Given the description of an element on the screen output the (x, y) to click on. 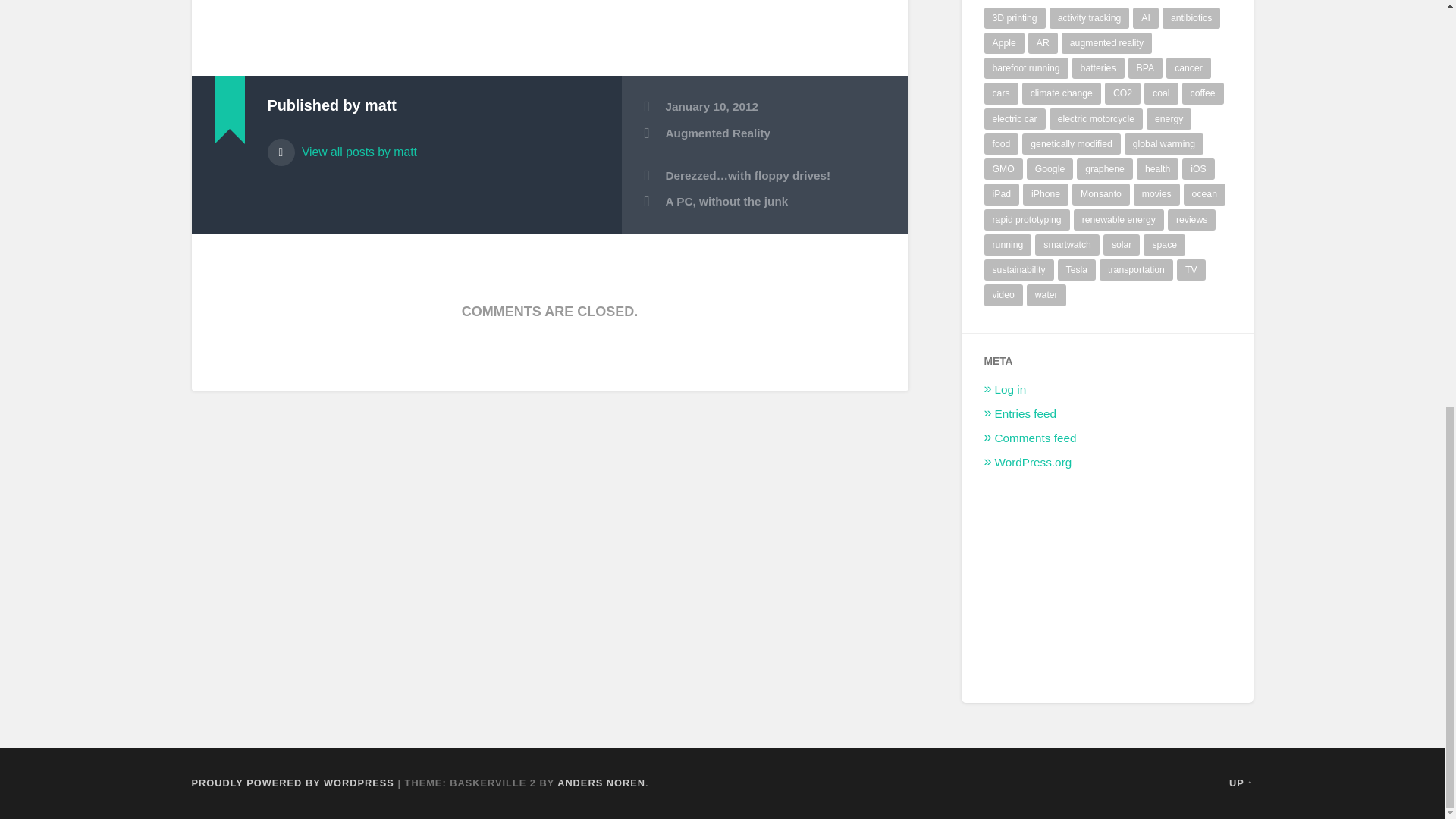
BPA (1145, 67)
food (1001, 143)
3D printing (1014, 17)
To the top (1240, 782)
batteries (1097, 67)
AI (1145, 17)
electric motorcycle (1095, 118)
Augmented Reality (718, 132)
climate change (1061, 93)
Apple (1004, 43)
